Given the description of an element on the screen output the (x, y) to click on. 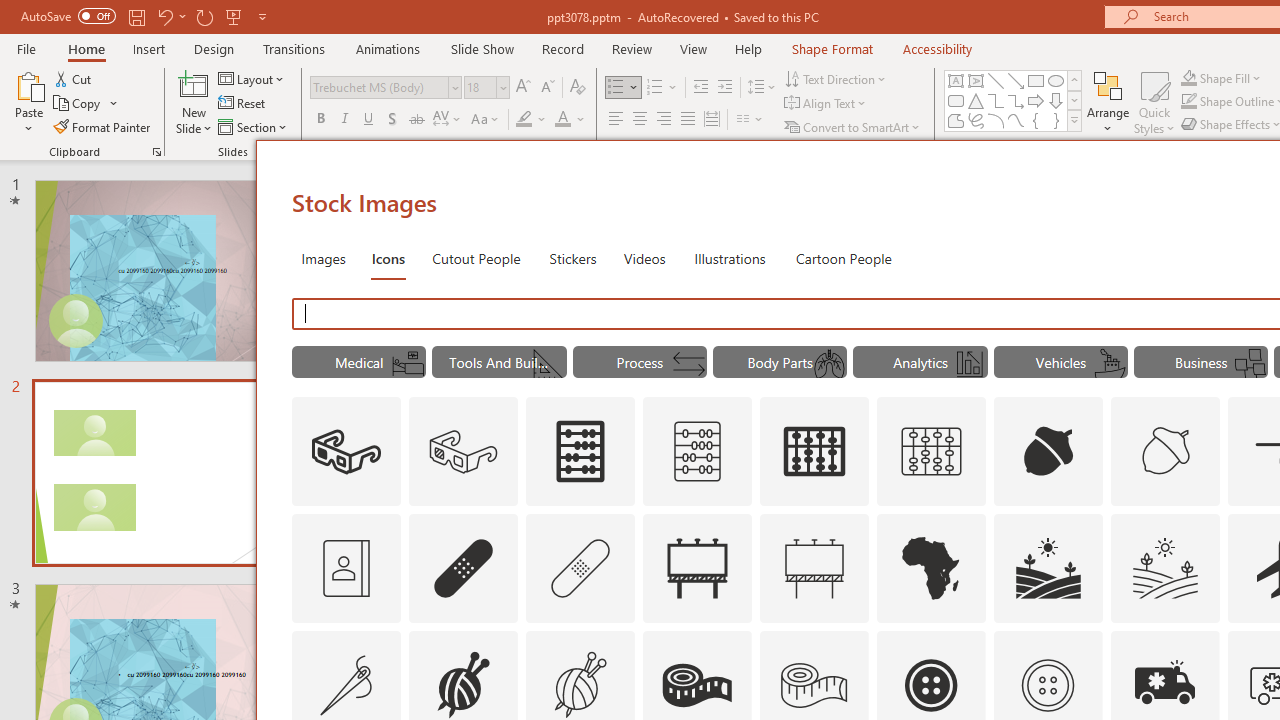
AutomationID: Icons_Advertising (697, 568)
AutomationID: Icons_TugBoat_M (1109, 364)
Cartoon People (843, 258)
Cutout People (477, 258)
Images (322, 258)
